Given the description of an element on the screen output the (x, y) to click on. 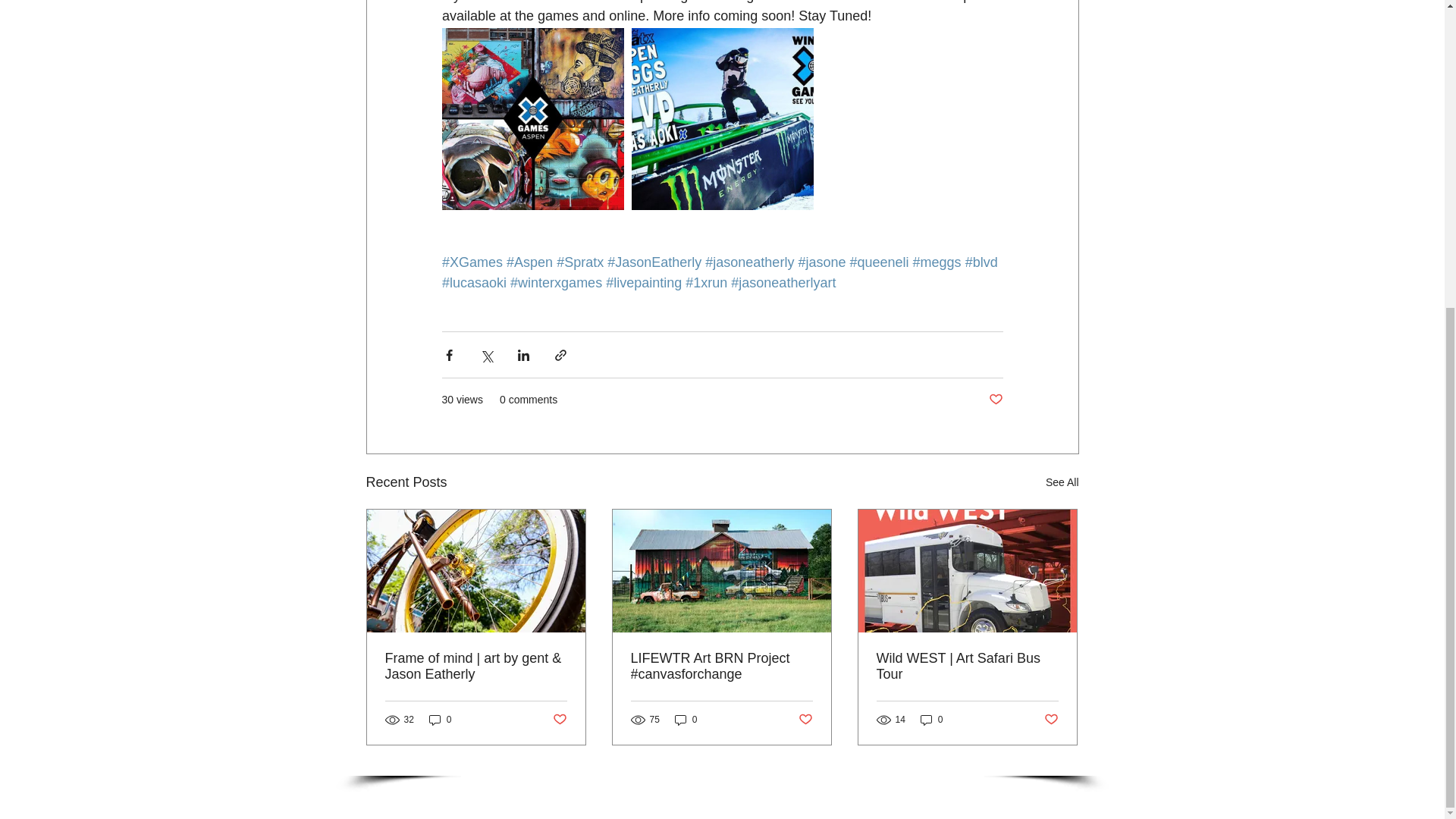
Post not marked as liked (558, 719)
Post not marked as liked (995, 399)
0 (440, 718)
See All (1061, 482)
